Given the description of an element on the screen output the (x, y) to click on. 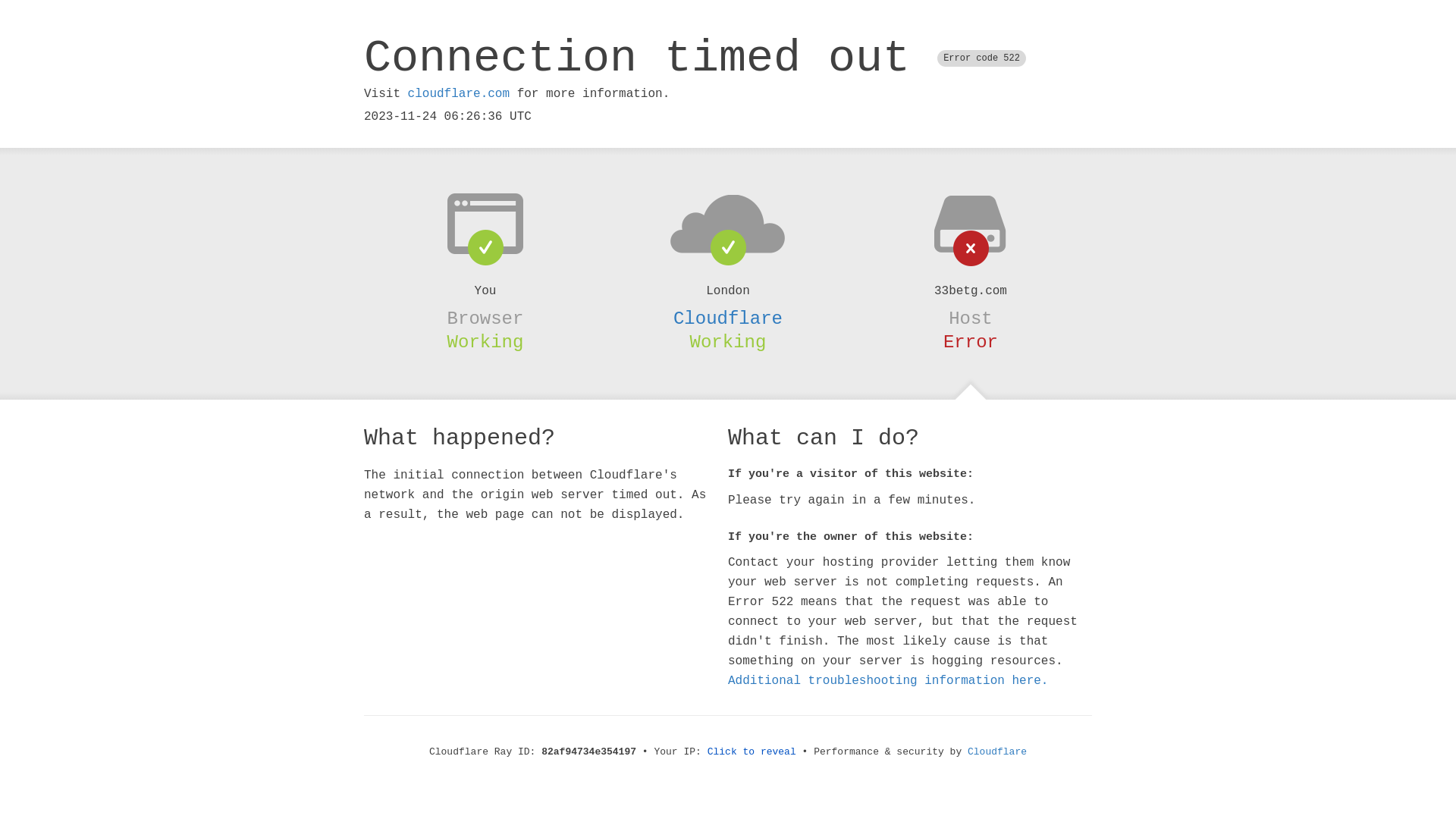
Click to reveal Element type: text (751, 751)
Additional troubleshooting information here. Element type: text (888, 680)
cloudflare.com Element type: text (458, 93)
Cloudflare Element type: text (996, 751)
Cloudflare Element type: text (727, 318)
